Given the description of an element on the screen output the (x, y) to click on. 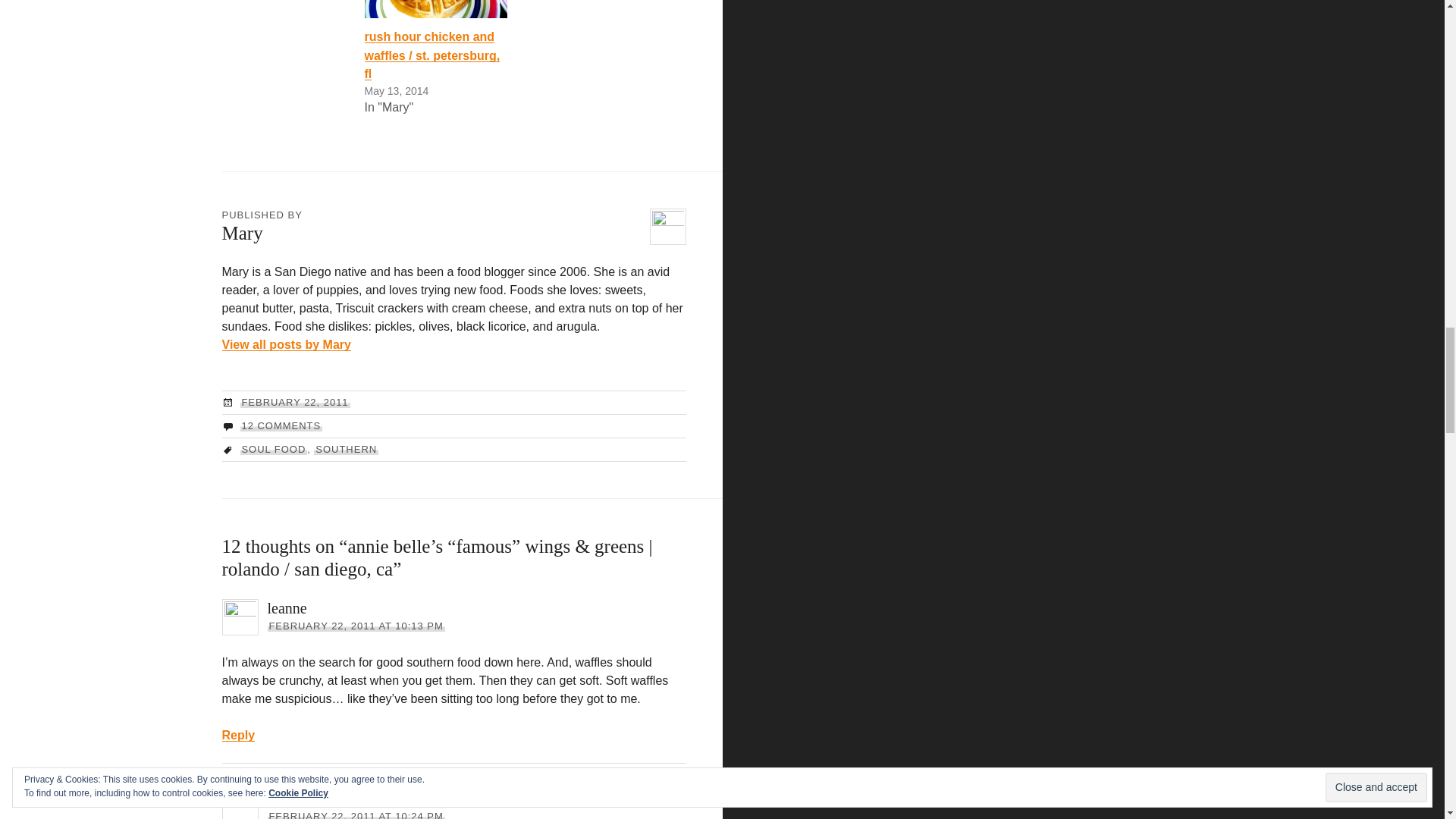
leanne (285, 607)
Reply (237, 735)
SOUL FOOD (273, 449)
FEBRUARY 22, 2011 (294, 401)
12 COMMENTS (280, 425)
FEBRUARY 22, 2011 AT 10:24 PM (355, 814)
View all posts by Mary (285, 344)
mary (282, 798)
FEBRUARY 22, 2011 AT 10:13 PM (355, 625)
SOUTHERN (346, 449)
